Given the description of an element on the screen output the (x, y) to click on. 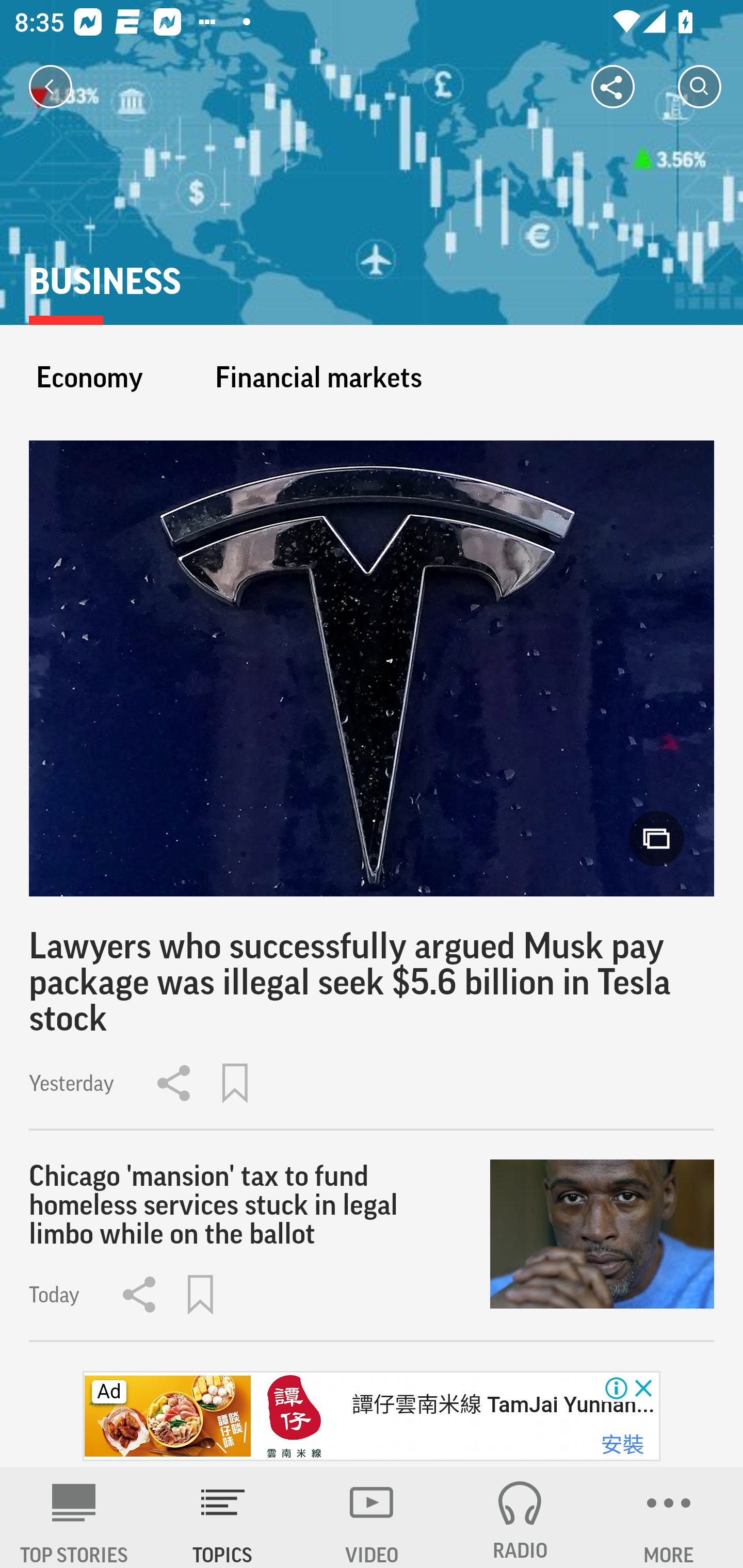
Economy (89, 376)
Financial markets (317, 376)
譚仔雲南米線 TamJai Yunnan... (501, 1404)
安裝 (621, 1445)
AP News TOP STORIES (74, 1517)
TOPICS (222, 1517)
VIDEO (371, 1517)
RADIO (519, 1517)
MORE (668, 1517)
